Given the description of an element on the screen output the (x, y) to click on. 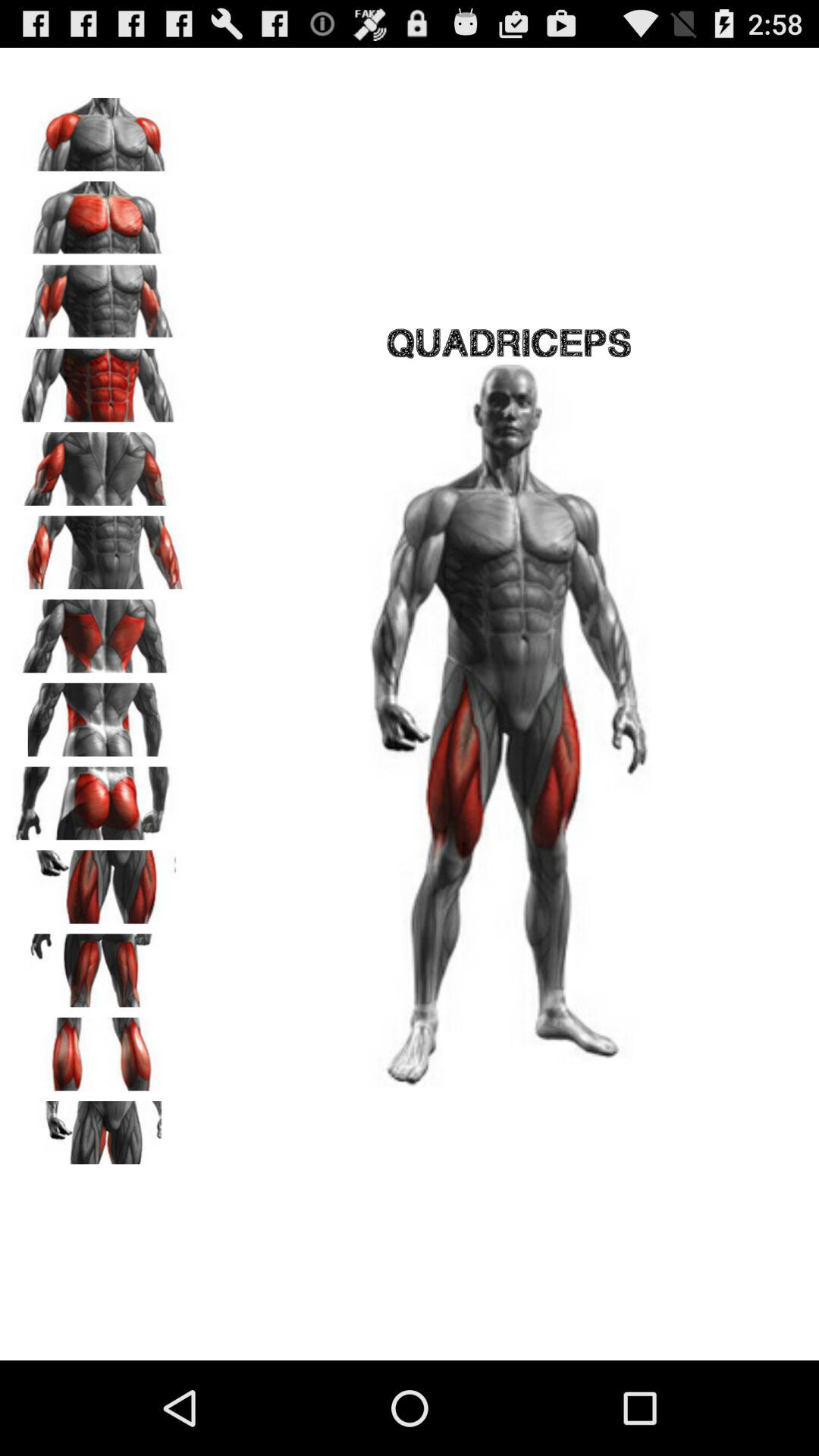
select photo (99, 1048)
